Given the description of an element on the screen output the (x, y) to click on. 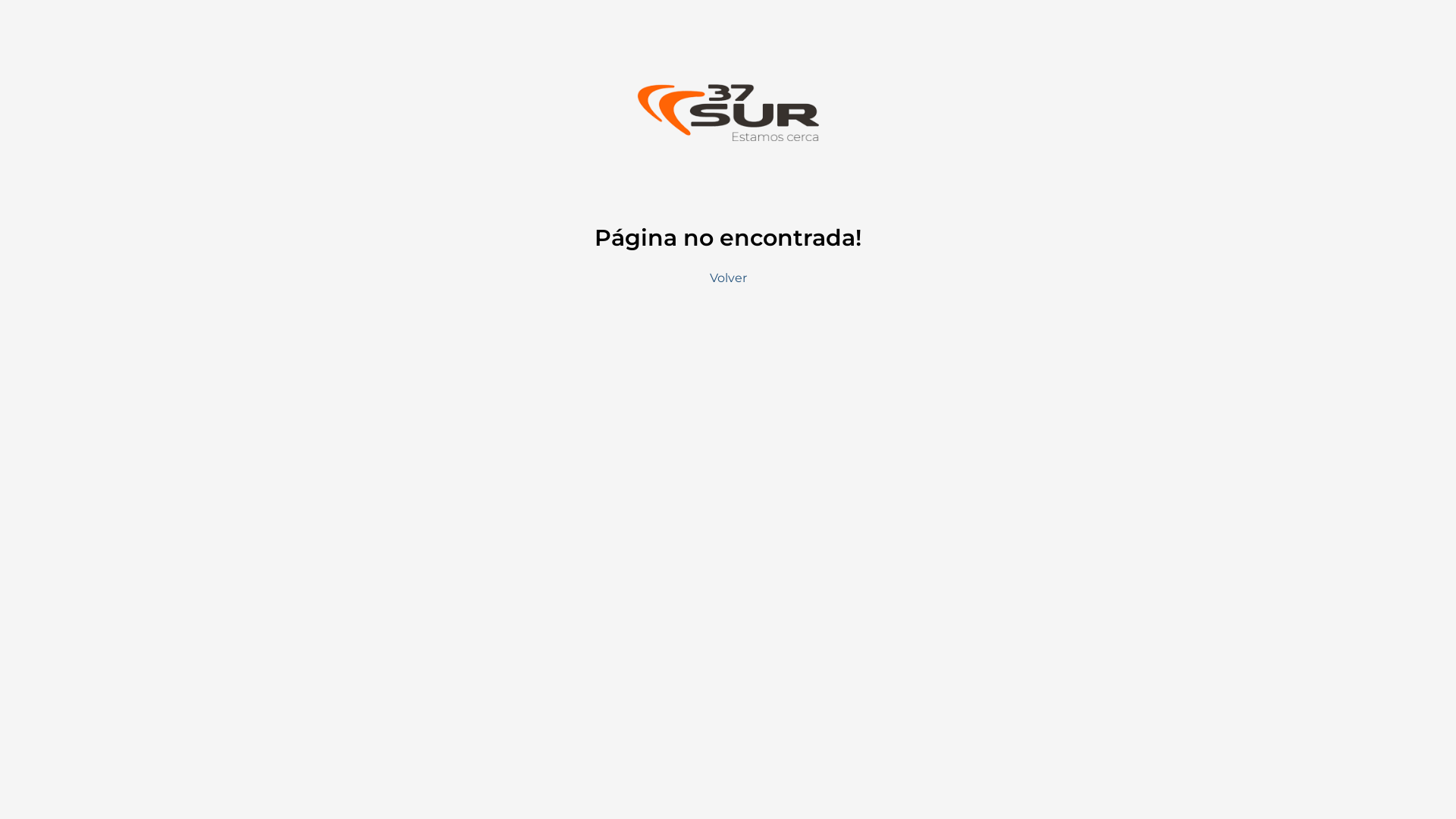
Volver Element type: text (727, 277)
